Given the description of an element on the screen output the (x, y) to click on. 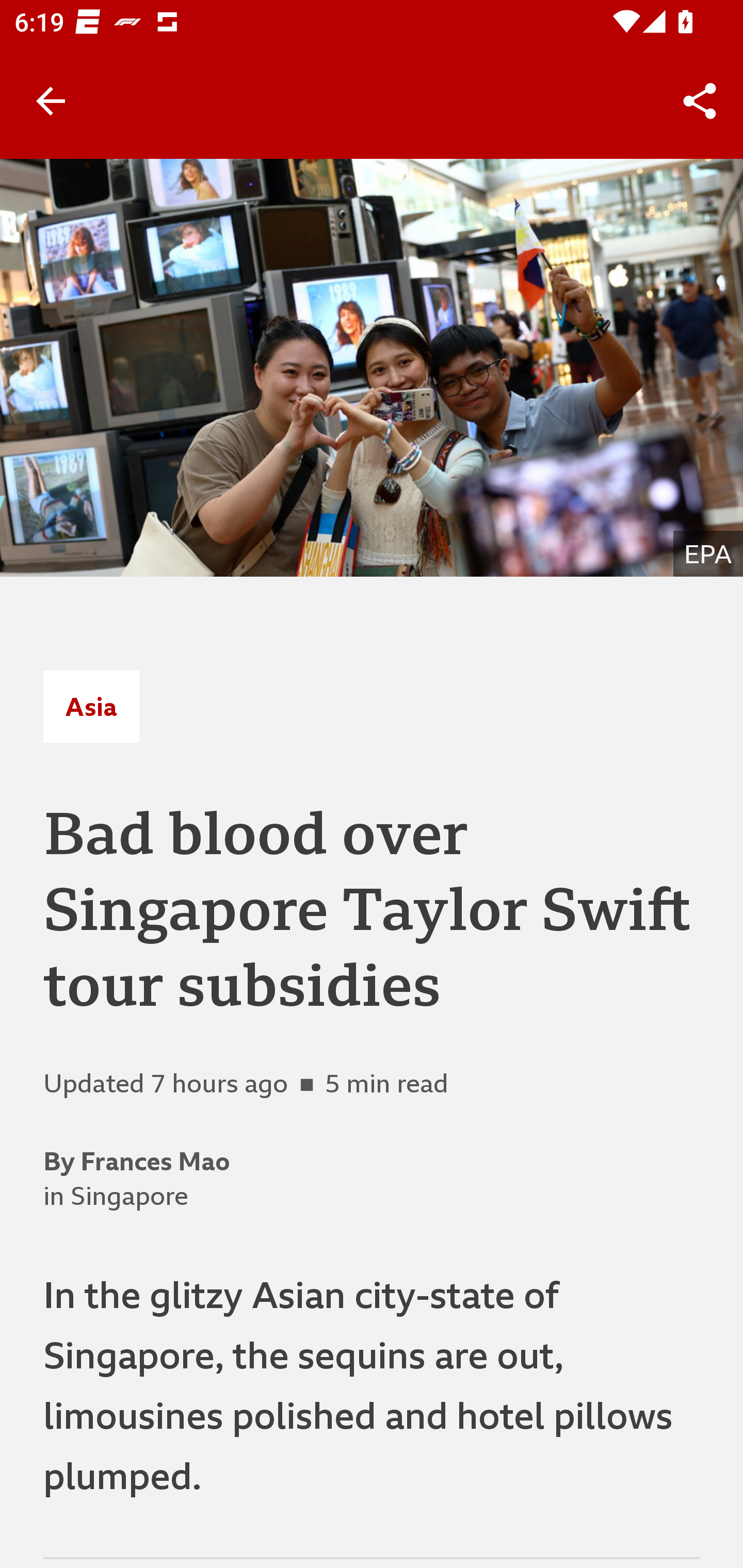
Back (50, 101)
Share (699, 101)
Asia (91, 706)
